Given the description of an element on the screen output the (x, y) to click on. 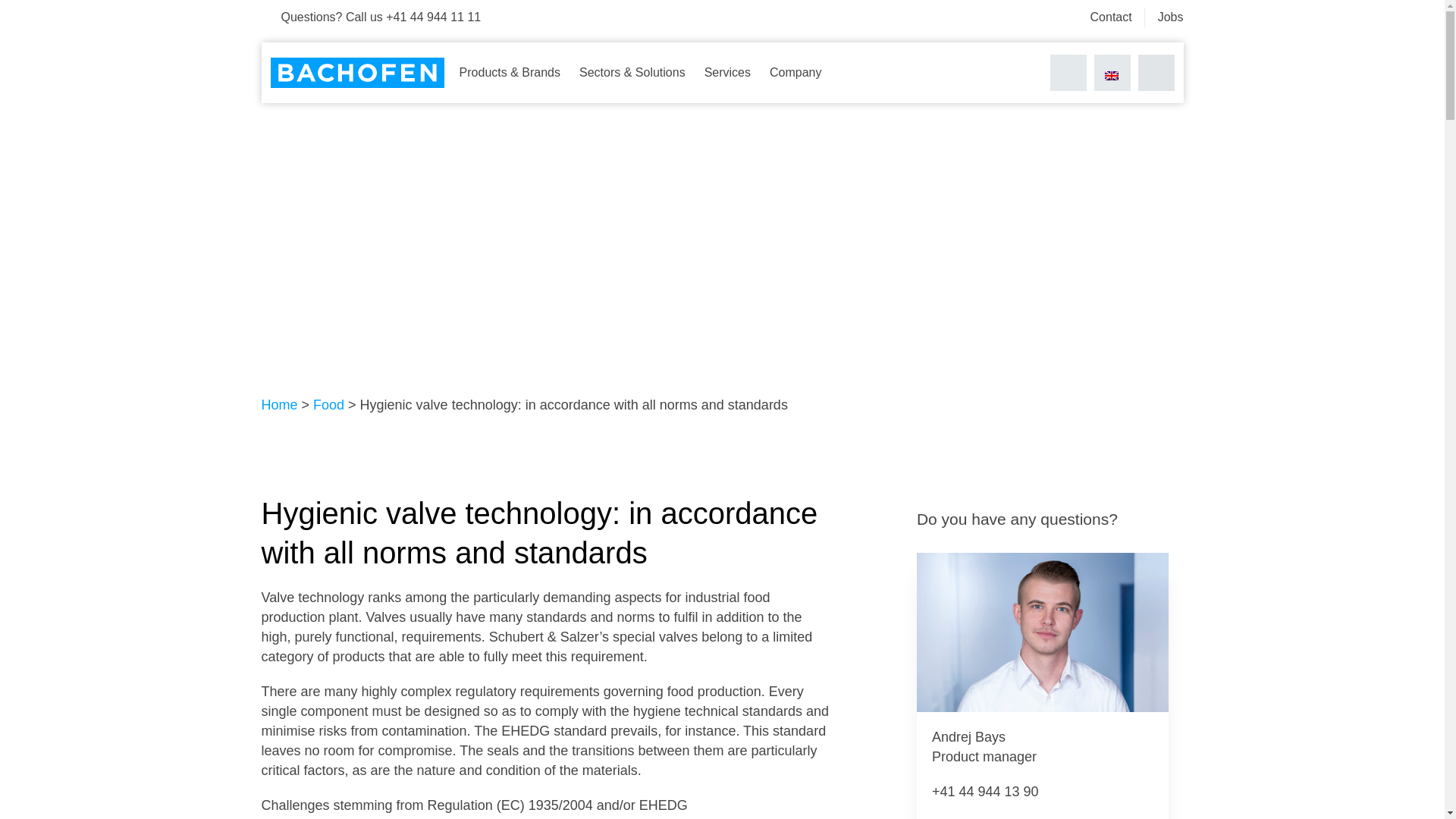
Contact (1111, 17)
Search (1067, 72)
Jobs (1170, 17)
Questions? Call us (370, 17)
